Given the description of an element on the screen output the (x, y) to click on. 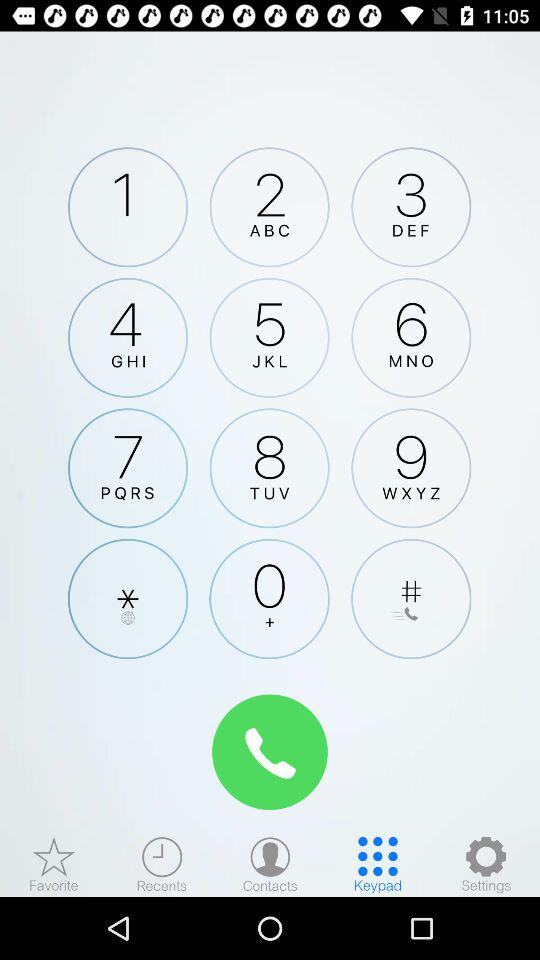
press 1 (127, 207)
